Given the description of an element on the screen output the (x, y) to click on. 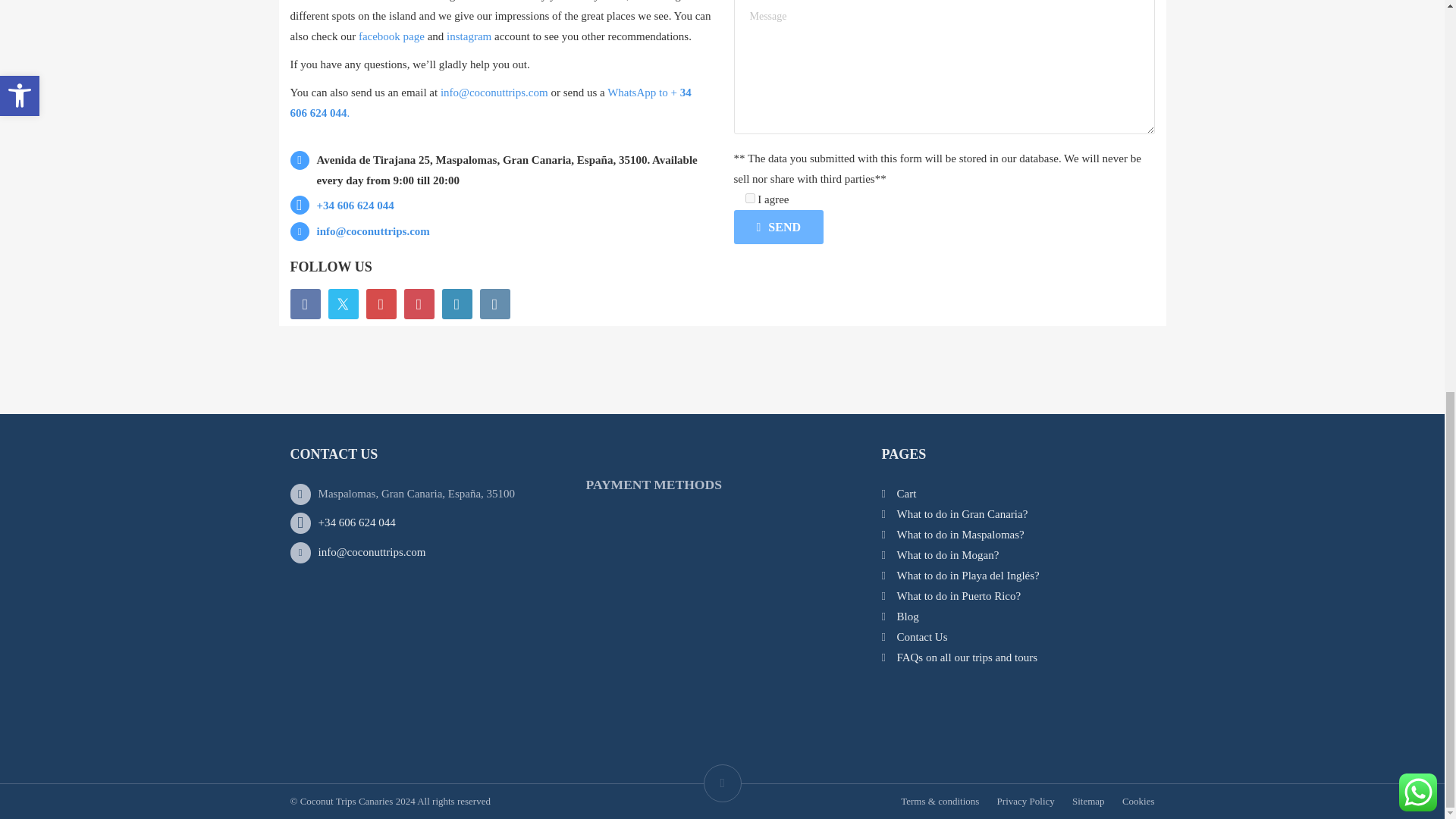
I agree (749, 198)
